Given the description of an element on the screen output the (x, y) to click on. 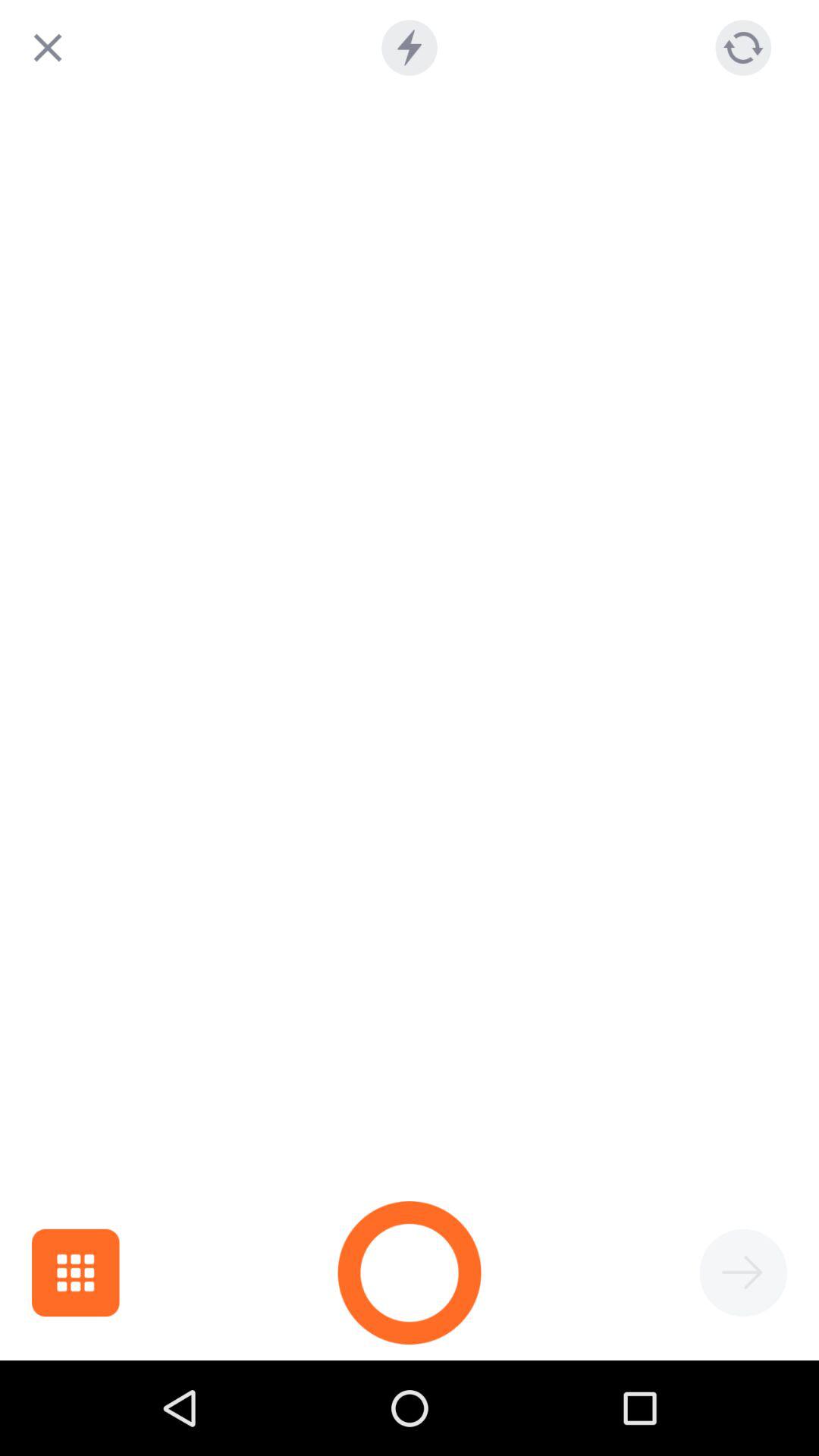
show grid (75, 1272)
